Given the description of an element on the screen output the (x, y) to click on. 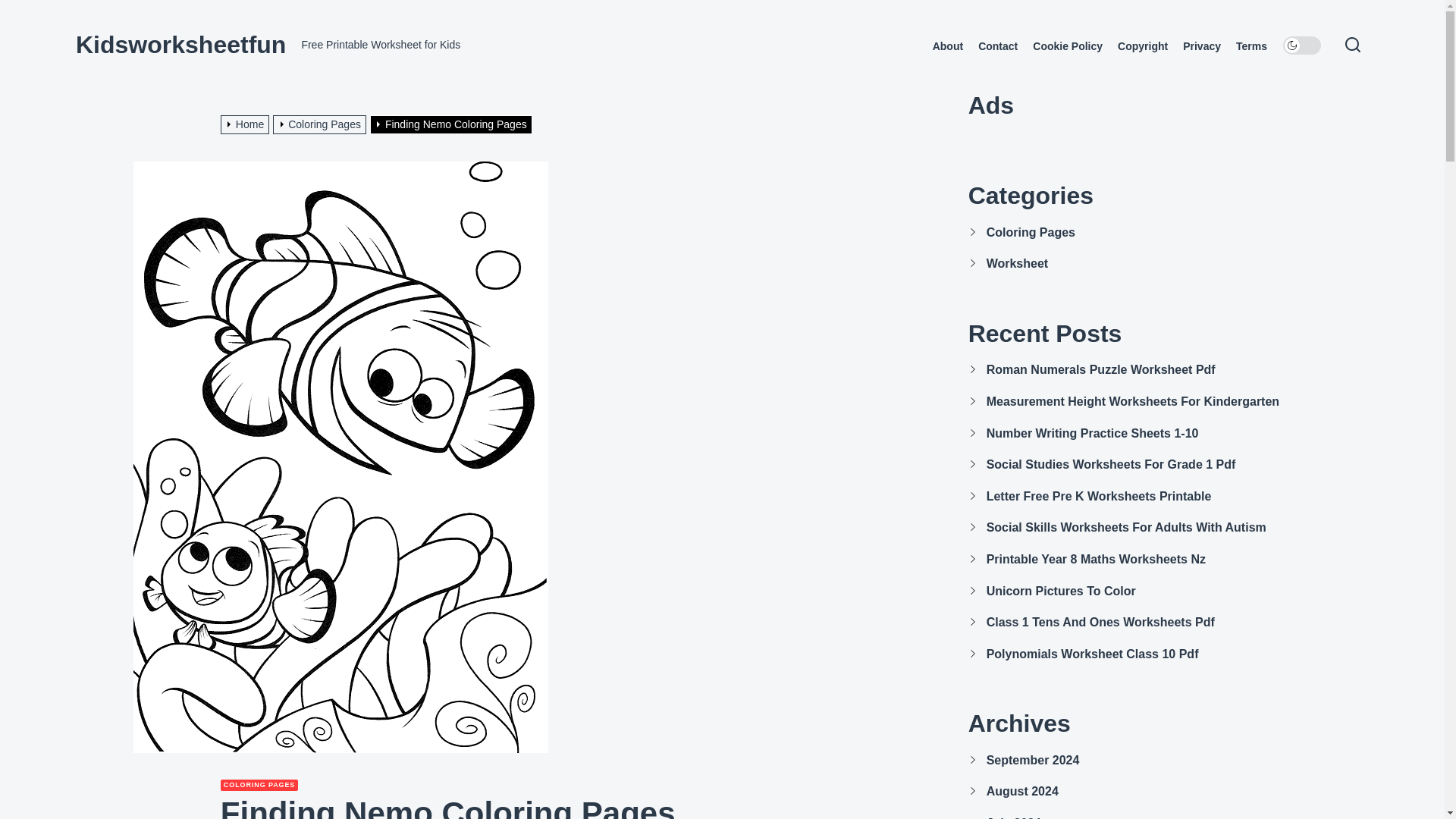
Privacy (1201, 46)
Home (247, 123)
COLORING PAGES (259, 785)
Cookie Policy (1067, 46)
Finding Nemo Coloring Pages (452, 123)
Copyright (1142, 46)
Kidsworksheetfun (180, 44)
Contact (997, 46)
Coloring Pages (321, 123)
About (947, 46)
